Given the description of an element on the screen output the (x, y) to click on. 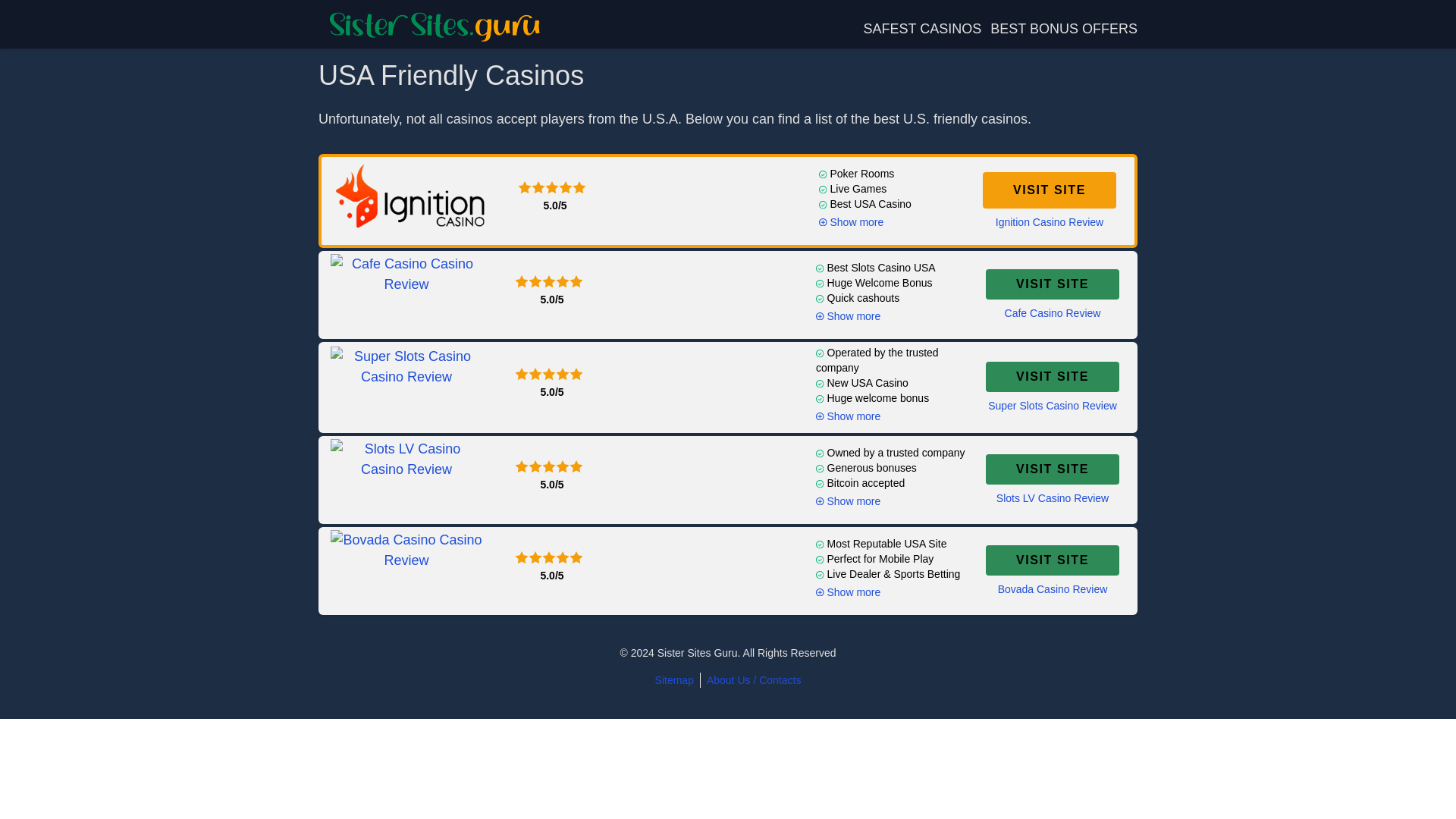
VISIT SITE (1049, 189)
Super Slots Casino Review (1052, 405)
Show more (847, 416)
Show more (847, 591)
Slots LV Casino Review (1051, 498)
Show more (850, 222)
BEST BONUS OFFERS (1063, 28)
VISIT SITE (1052, 469)
VISIT SITE (1052, 376)
Ignition Casino Review (1049, 222)
VISIT SITE (1052, 284)
Show more (847, 500)
SAFEST CASINOS (922, 28)
VISIT SITE (1052, 560)
Show more (847, 315)
